Given the description of an element on the screen output the (x, y) to click on. 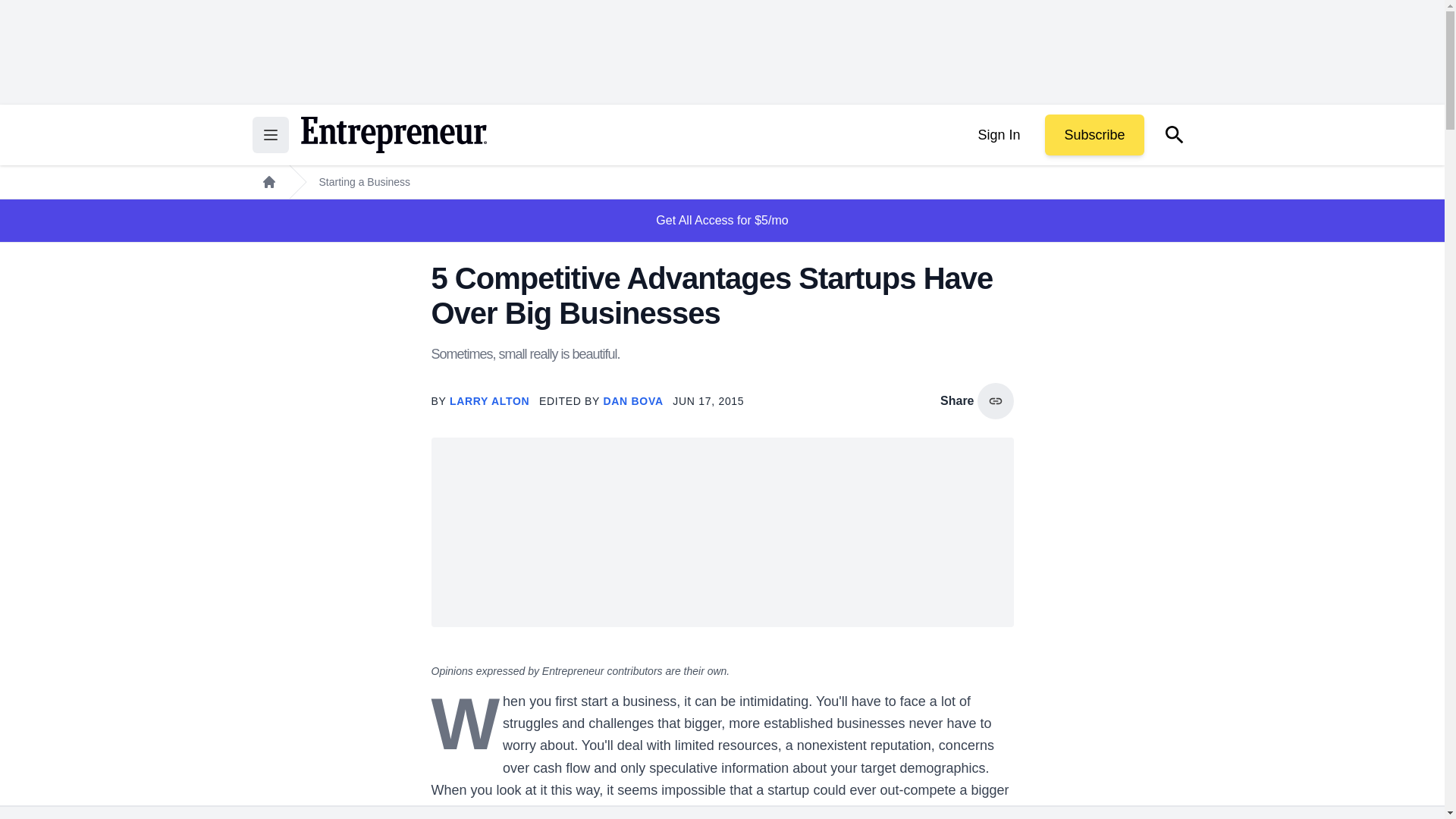
copy (994, 401)
Return to the home page (392, 135)
Subscribe (1093, 134)
Sign In (998, 134)
